Given the description of an element on the screen output the (x, y) to click on. 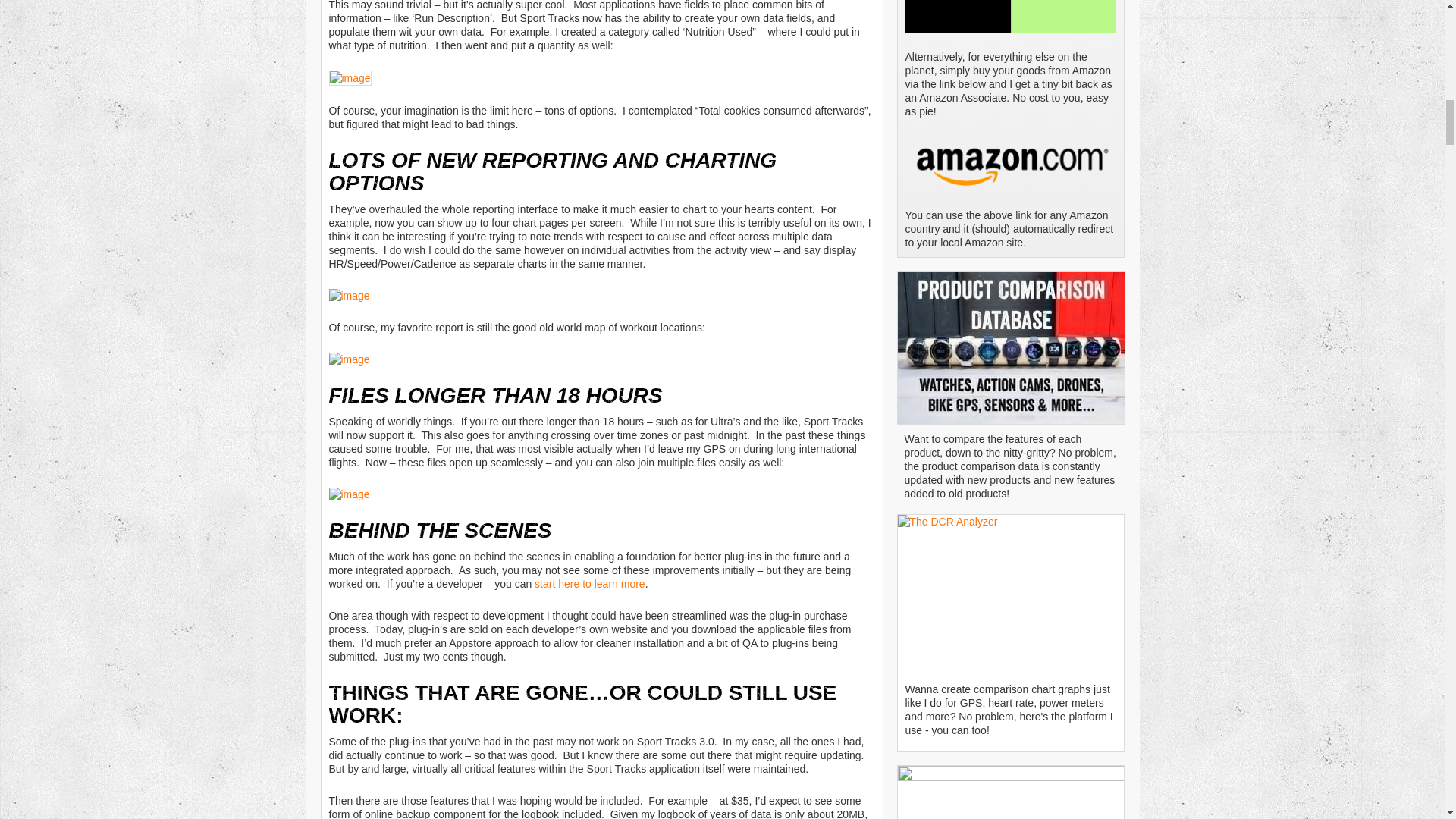
DC Rainmaker YouTube Channel (1011, 792)
image (350, 77)
image (349, 295)
image (349, 359)
image (349, 494)
